Given the description of an element on the screen output the (x, y) to click on. 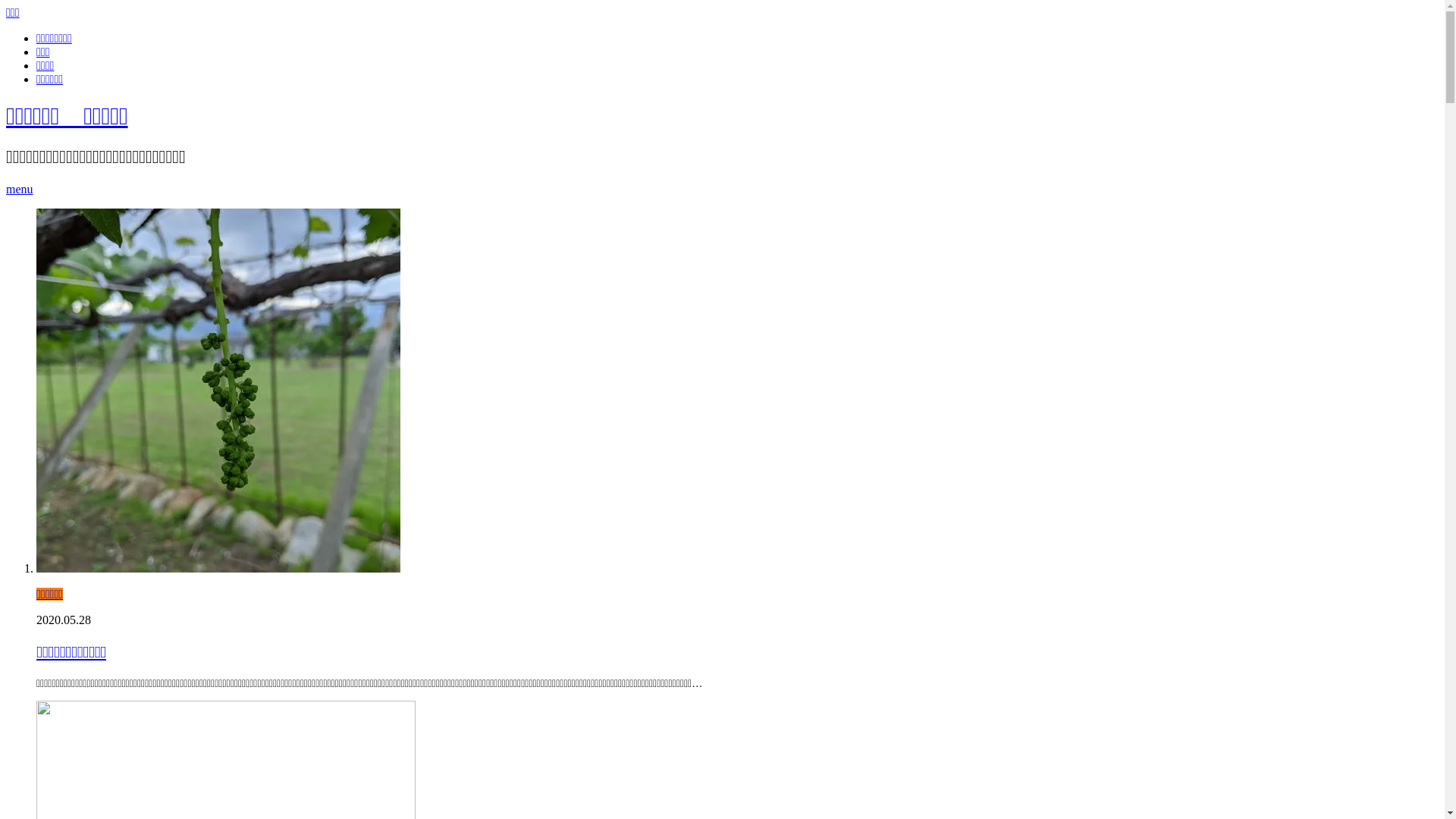
menu Element type: text (19, 188)
